Given the description of an element on the screen output the (x, y) to click on. 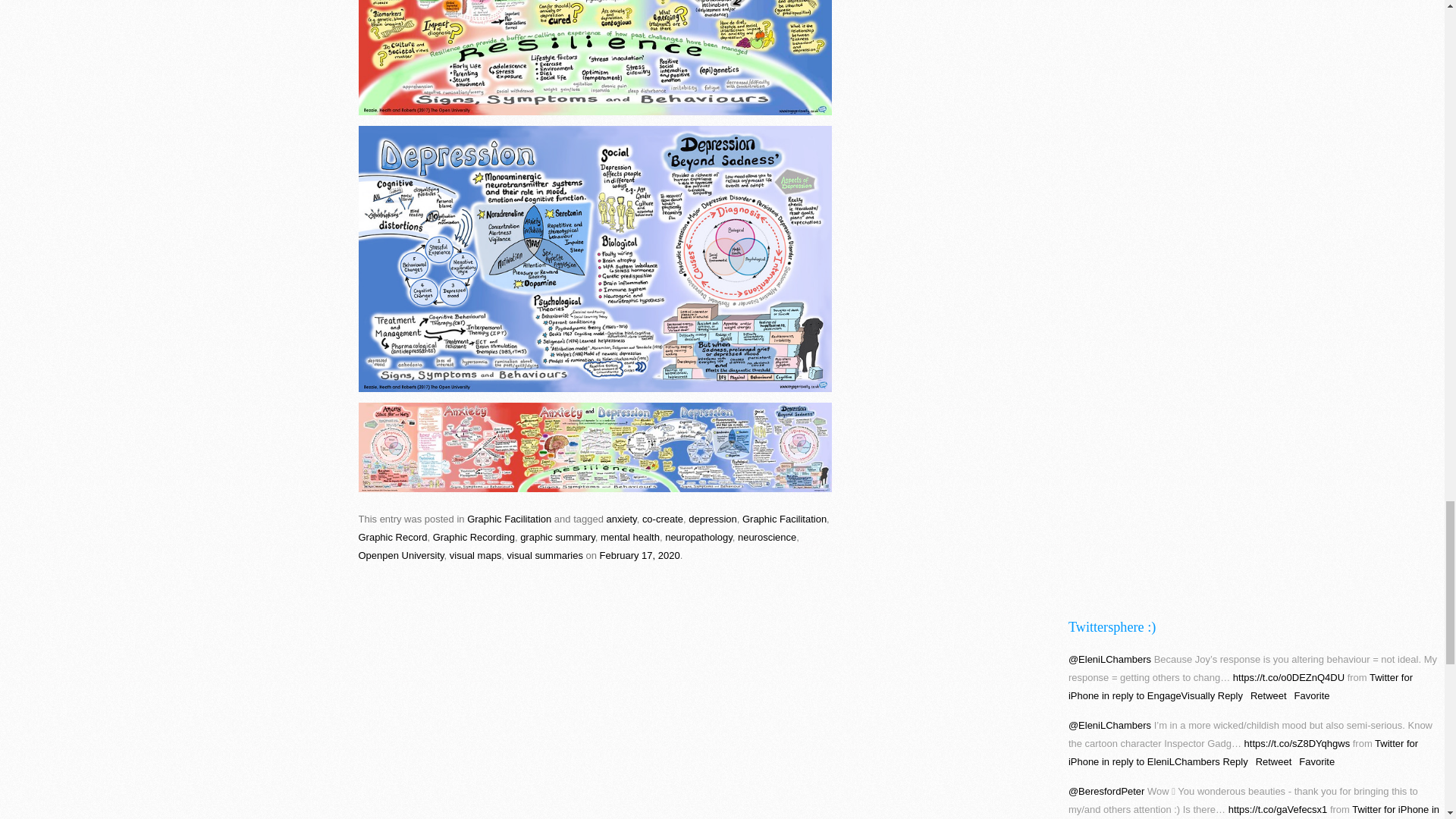
Favorite (1320, 761)
Graphic Facilitation (509, 518)
graphic summary (557, 536)
co-create (662, 518)
visual summaries (544, 555)
9:41 pm (639, 555)
visual maps (475, 555)
Graphic Recording (473, 536)
Reply (1239, 761)
Graphic Record (392, 536)
